Given the description of an element on the screen output the (x, y) to click on. 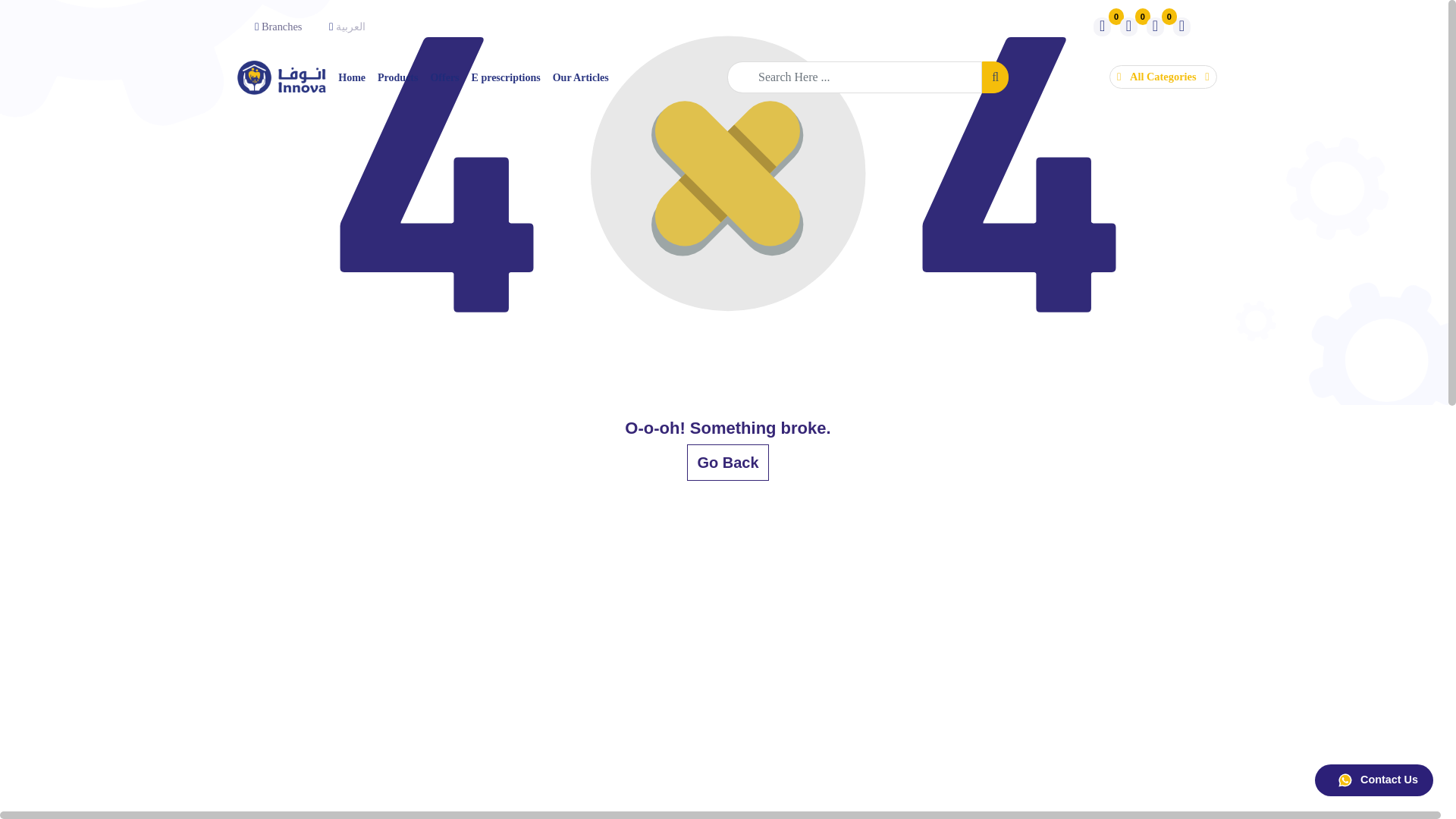
Our Articles (580, 77)
My Favorites (1101, 27)
0 (1154, 27)
0 (1101, 27)
0 (1128, 27)
Cart (1154, 27)
Products (397, 77)
Offers (443, 77)
Branches (282, 26)
E prescriptions (506, 77)
